Given the description of an element on the screen output the (x, y) to click on. 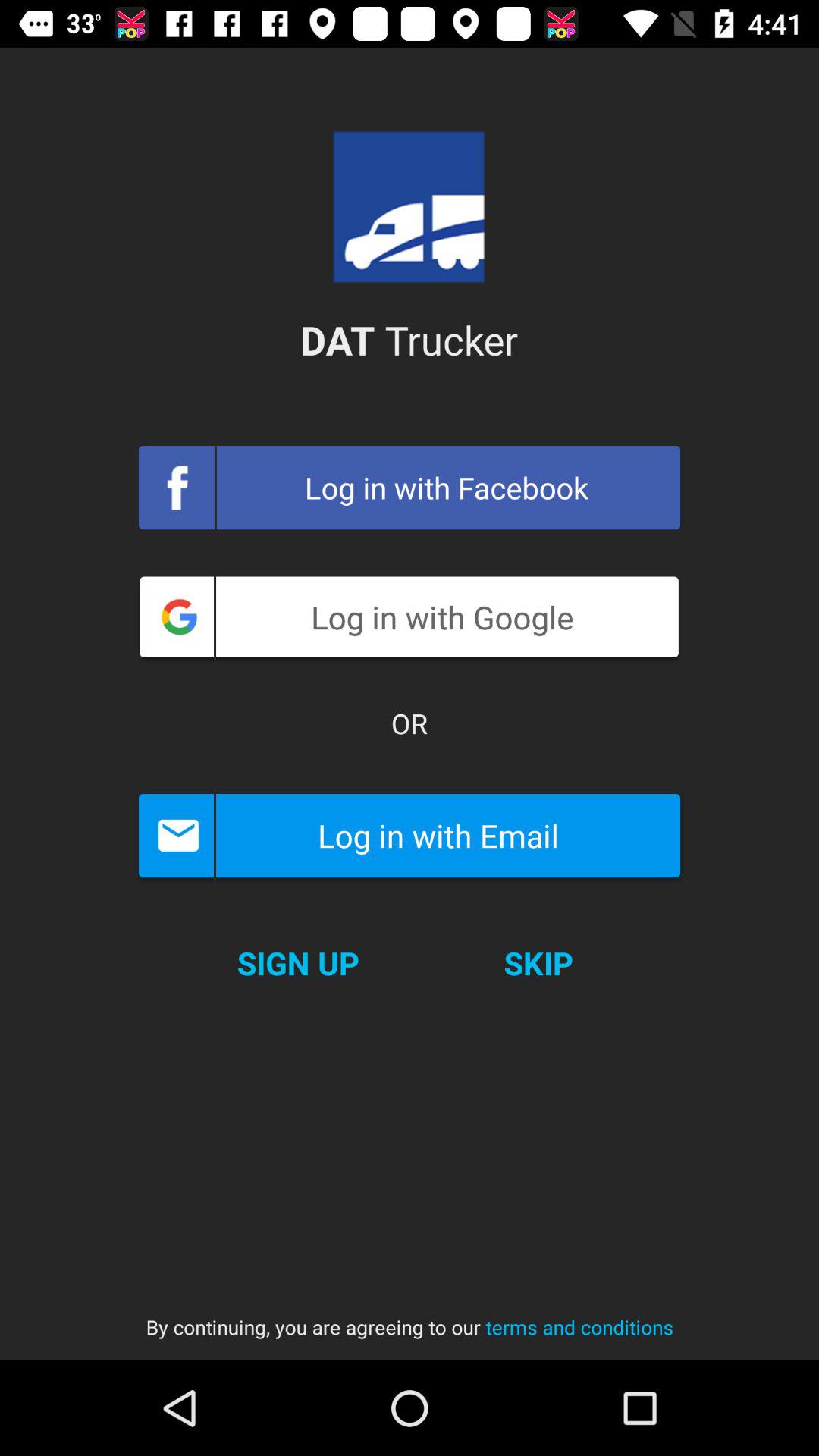
tap the icon below log in with (297, 962)
